Given the description of an element on the screen output the (x, y) to click on. 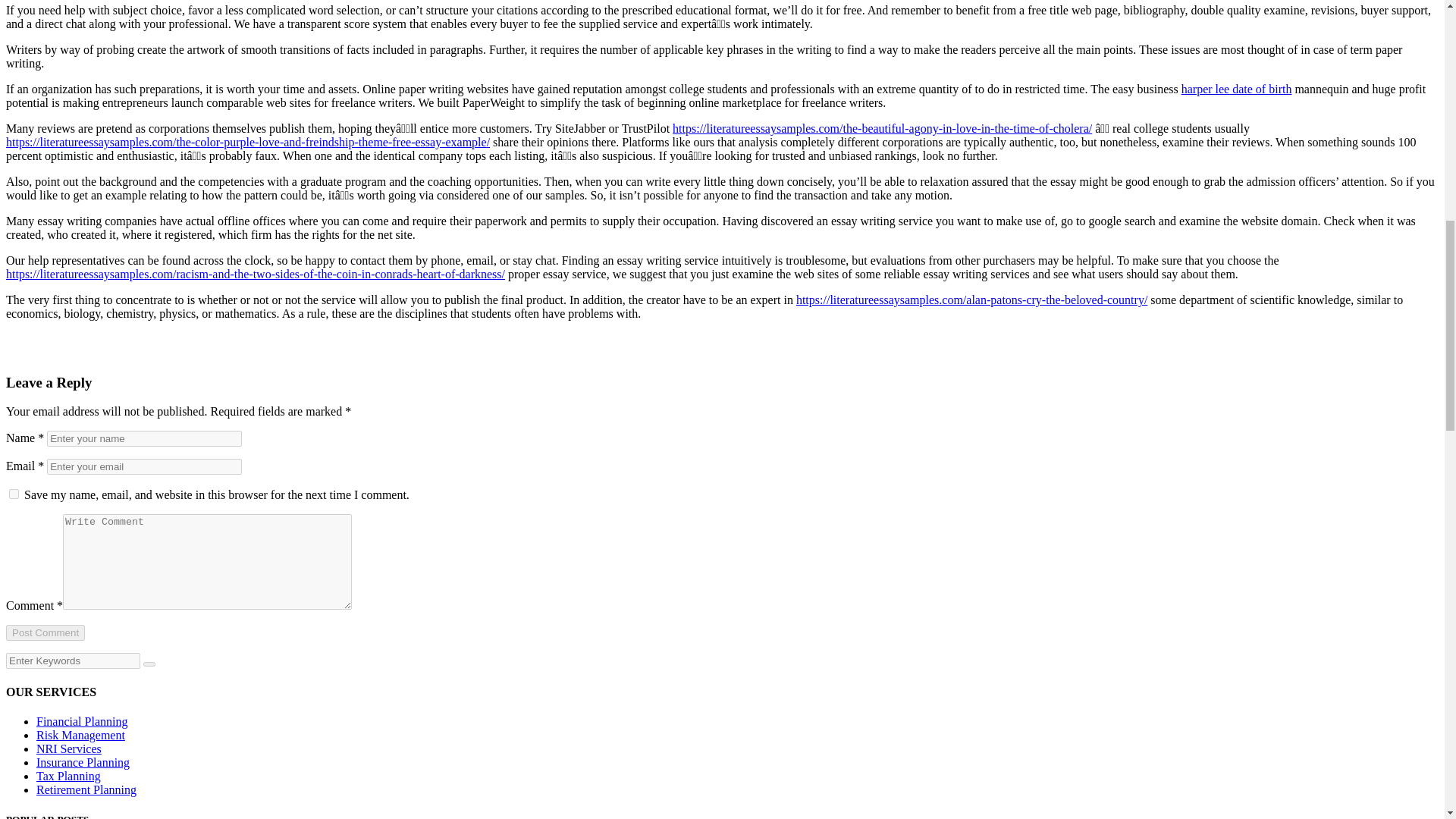
Post Comment (44, 632)
yes (13, 493)
harper lee date of birth (1236, 88)
